Given the description of an element on the screen output the (x, y) to click on. 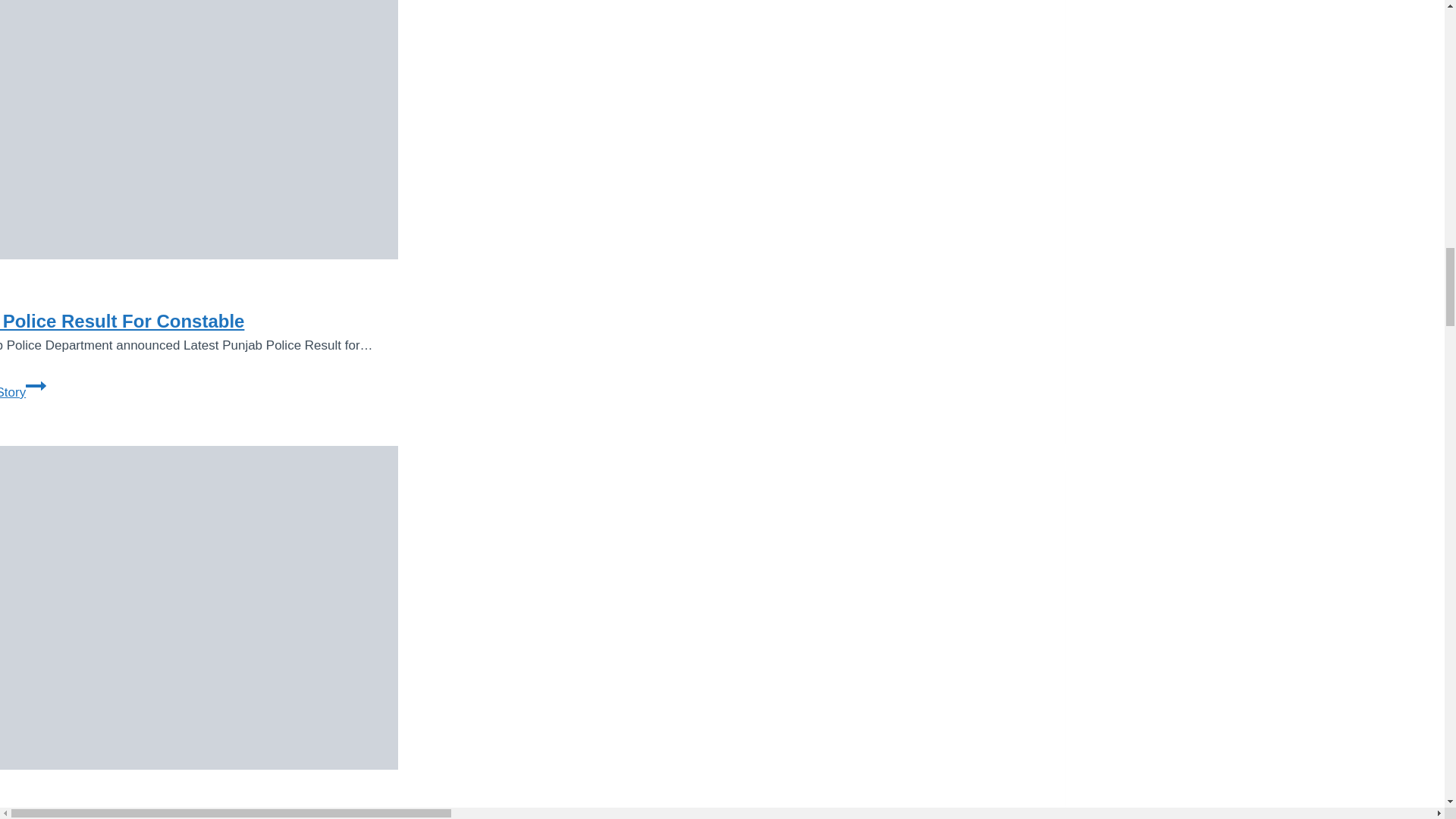
Punjab Police Result For Constable (23, 391)
Punjab Police Result For Constable 4 (122, 321)
AJK Bise Mirpur Result 2024 5 (198, 129)
Continue (198, 607)
